Given the description of an element on the screen output the (x, y) to click on. 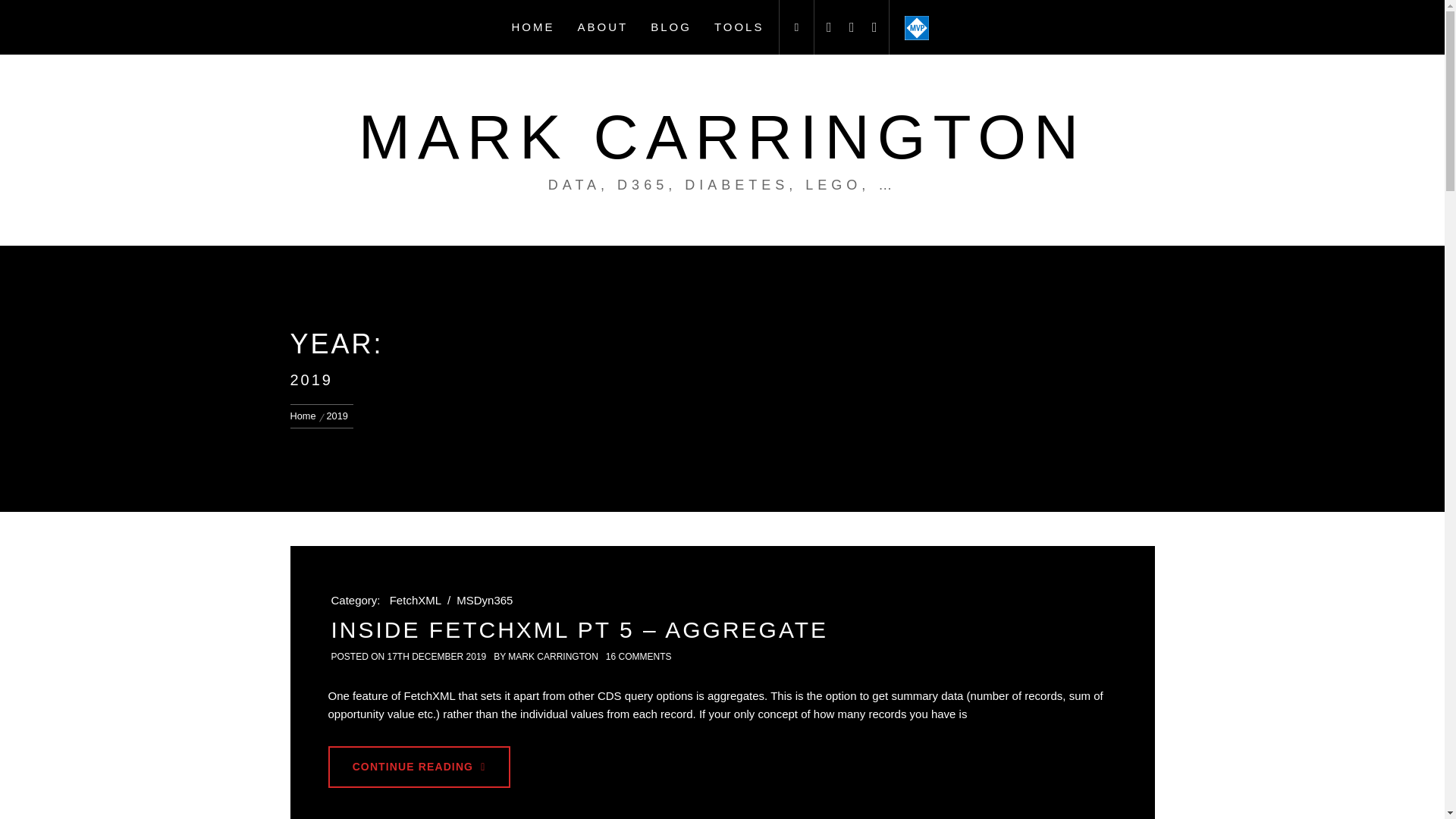
17TH DECEMBER 2019 (436, 656)
CONTINUE READING (418, 766)
FetchXML (415, 600)
MSDyn365 (483, 600)
Home (304, 415)
BLOG (671, 27)
TOOLS (739, 27)
Search (797, 408)
16 COMMENTS (638, 656)
